Given the description of an element on the screen output the (x, y) to click on. 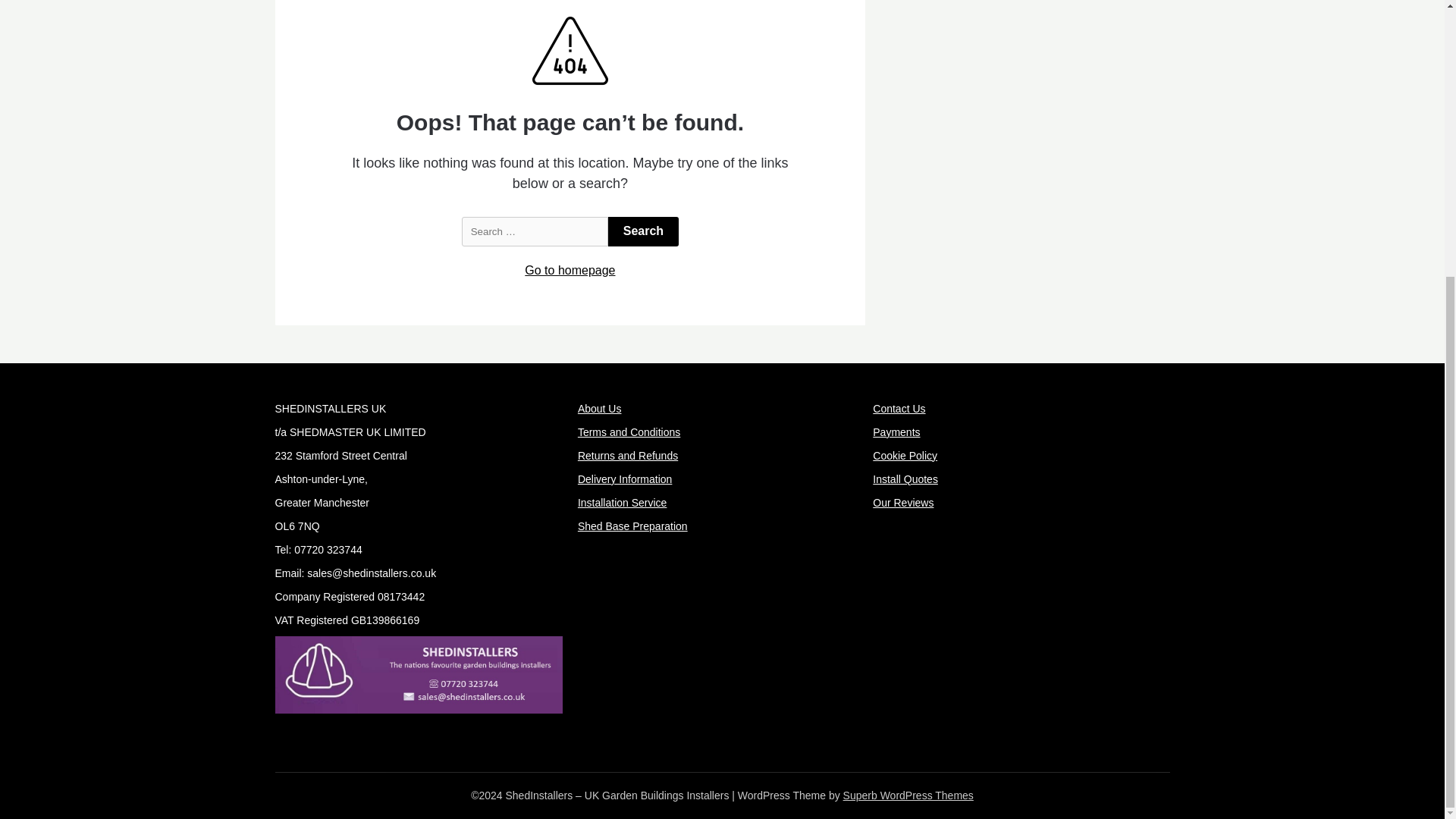
Search (643, 231)
Search (643, 231)
